Given the description of an element on the screen output the (x, y) to click on. 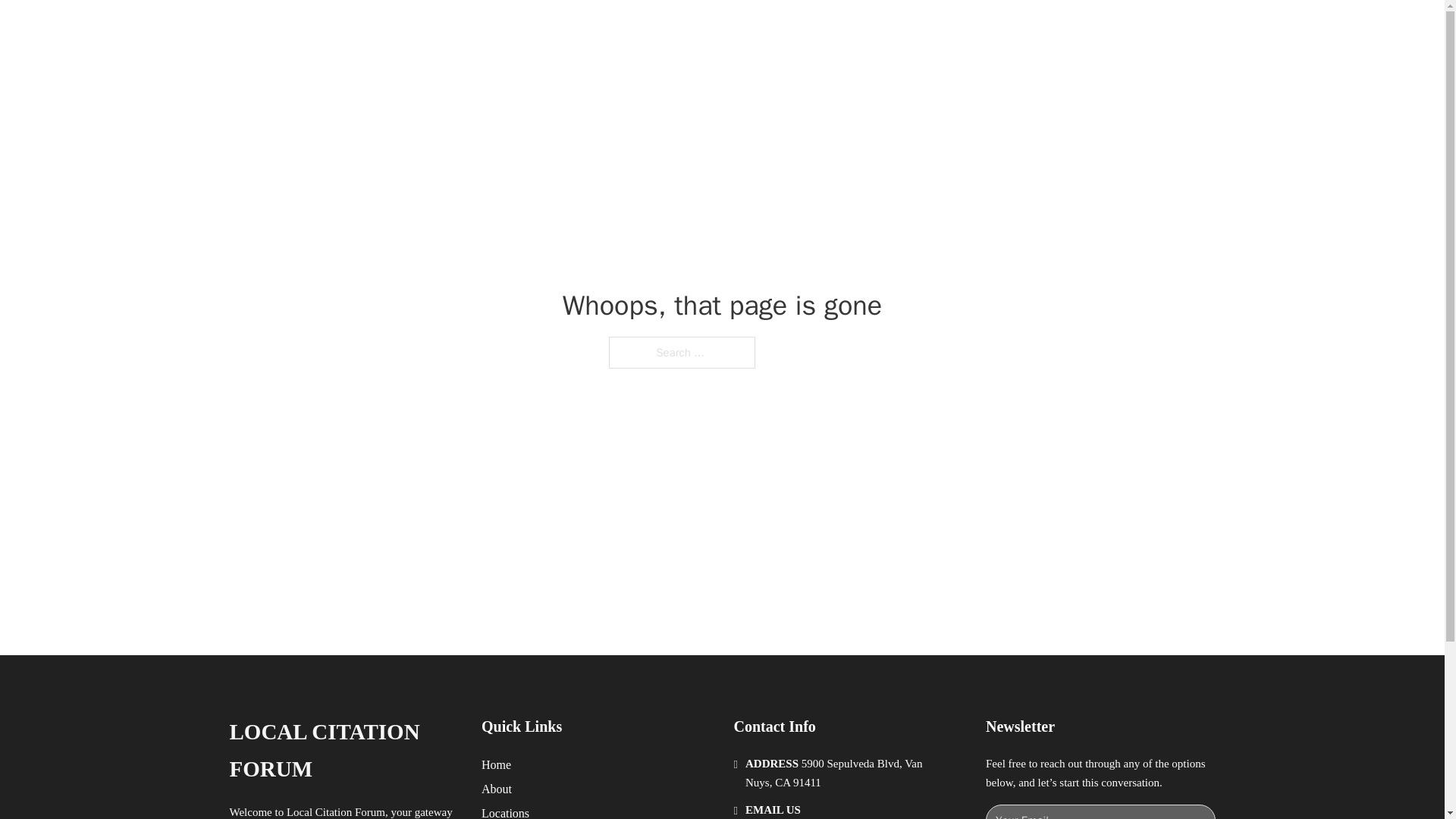
LOCAL CITATION FORUM (343, 750)
About (496, 788)
Locations (505, 811)
HOME (919, 29)
LOCAL CITATION FORUM (429, 28)
Home (496, 764)
LOCATIONS (990, 29)
